Given the description of an element on the screen output the (x, y) to click on. 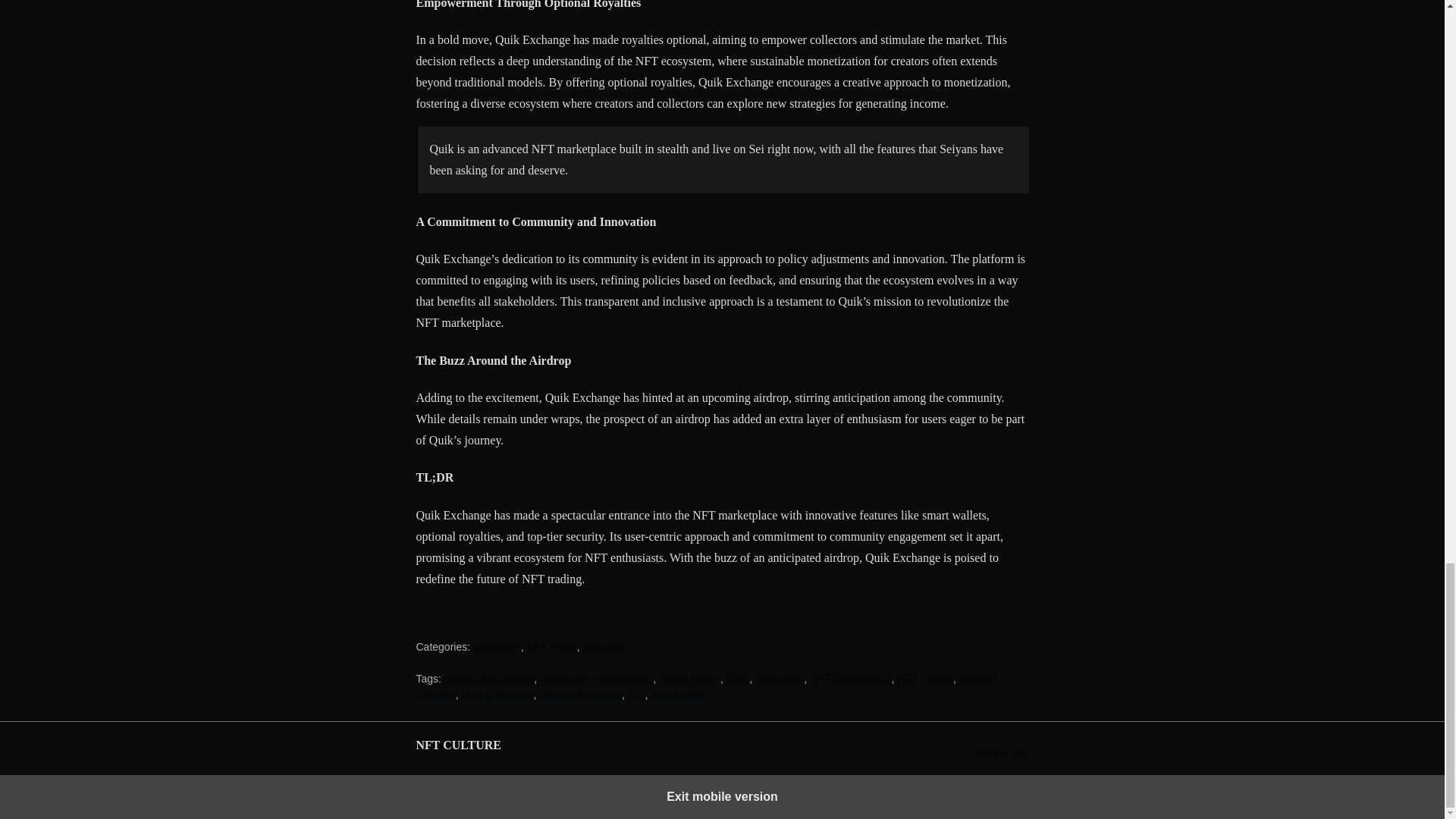
Quik Exchange (496, 694)
airdrop anticipation (489, 678)
newsletter (497, 646)
community engagement (596, 678)
Spotlight (602, 646)
Innovation (780, 678)
SEI (636, 694)
digital assets (689, 678)
NFT trading (924, 678)
Back to top (1002, 752)
